Given the description of an element on the screen output the (x, y) to click on. 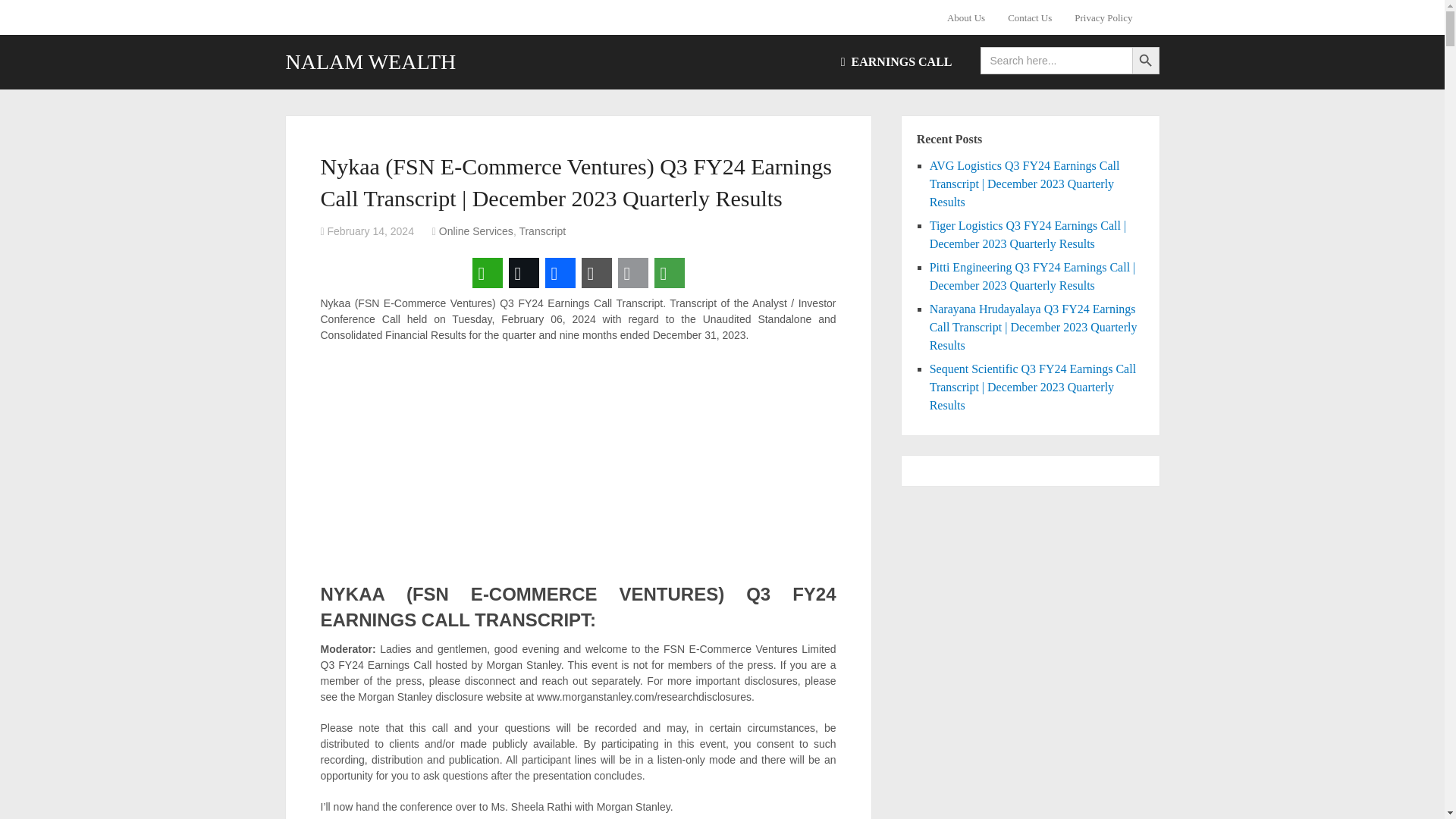
NALAM WEALTH (370, 61)
Advertisement (576, 464)
Facebook (559, 272)
Transcript (542, 231)
Online Services (476, 231)
View all posts in Online Services (476, 231)
WhatsApp (486, 272)
Contact Us (1028, 17)
Copy Link (596, 272)
View all posts in Transcript (542, 231)
About Us (971, 17)
Search Button (1144, 60)
More Options (668, 272)
Privacy Policy (1102, 17)
EARNINGS CALL (896, 62)
